Given the description of an element on the screen output the (x, y) to click on. 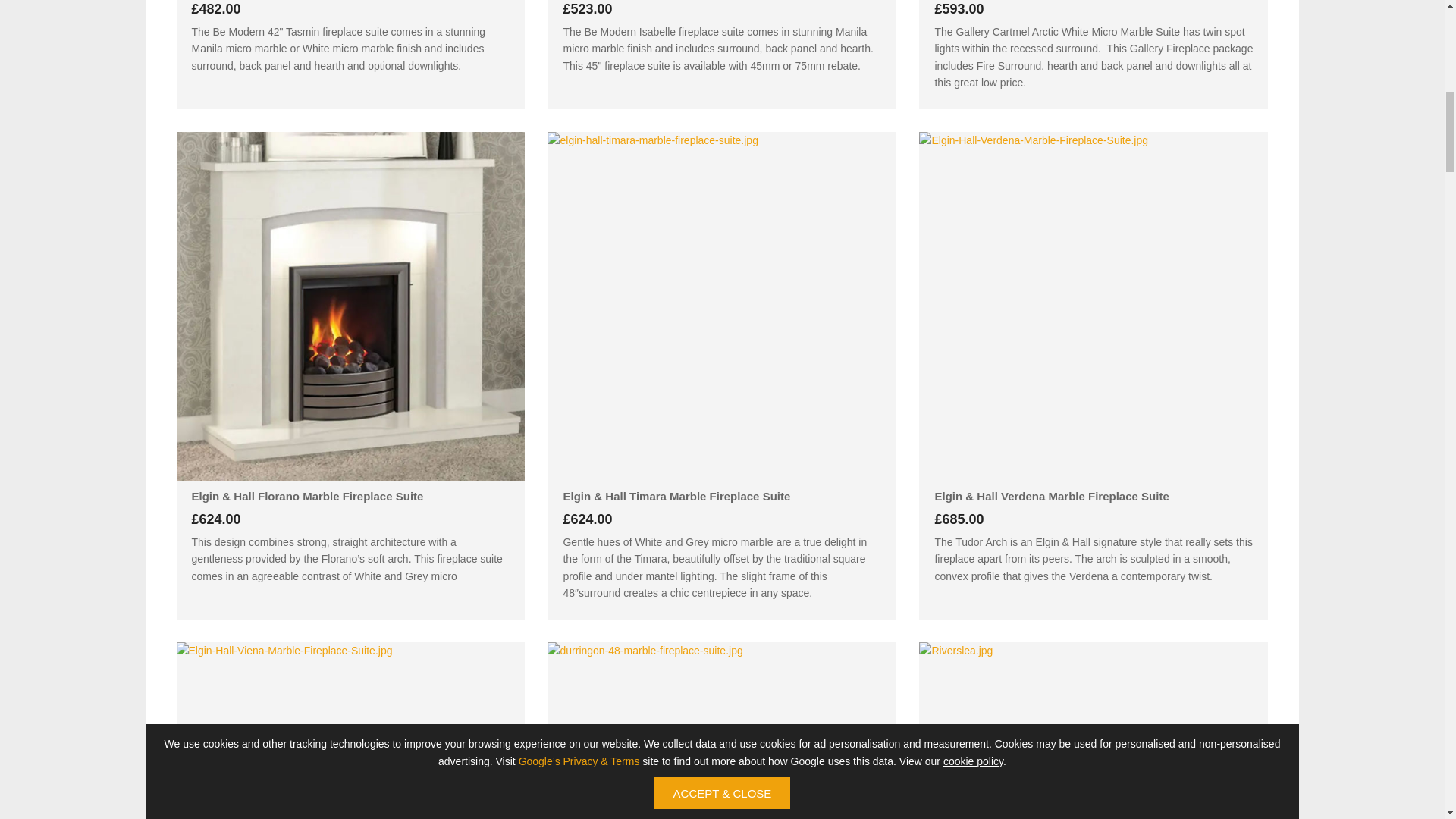
Gallery Durrington 48" Marble Fireplace Suite Inc Downlights (721, 730)
